Given the description of an element on the screen output the (x, y) to click on. 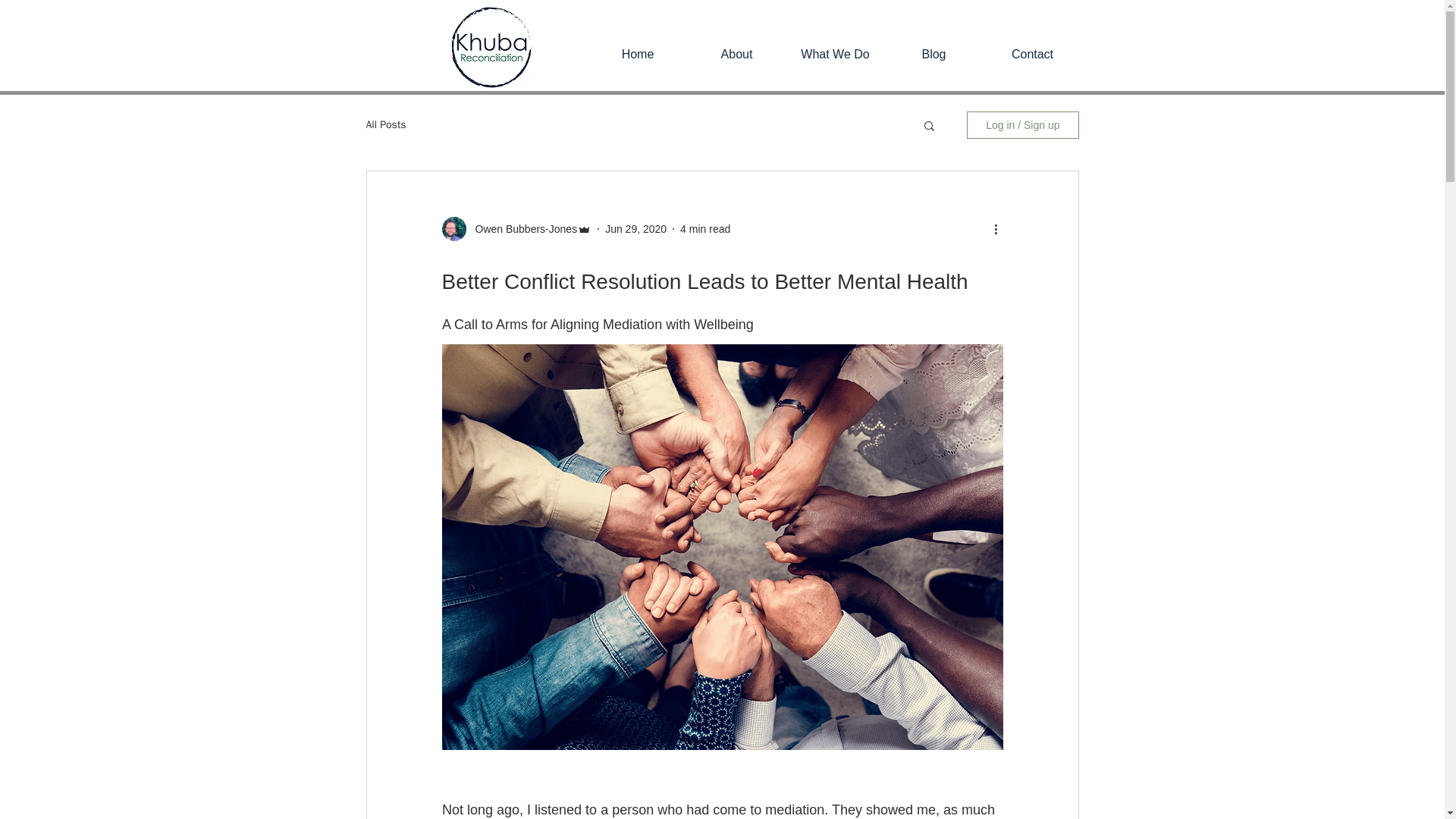
4 min read (704, 228)
Jun 29, 2020 (635, 228)
Contact (1031, 54)
What We Do (834, 54)
Owen Bubbers-Jones (520, 229)
About (736, 54)
Blog (932, 54)
Home (637, 54)
All Posts (385, 124)
